Given the description of an element on the screen output the (x, y) to click on. 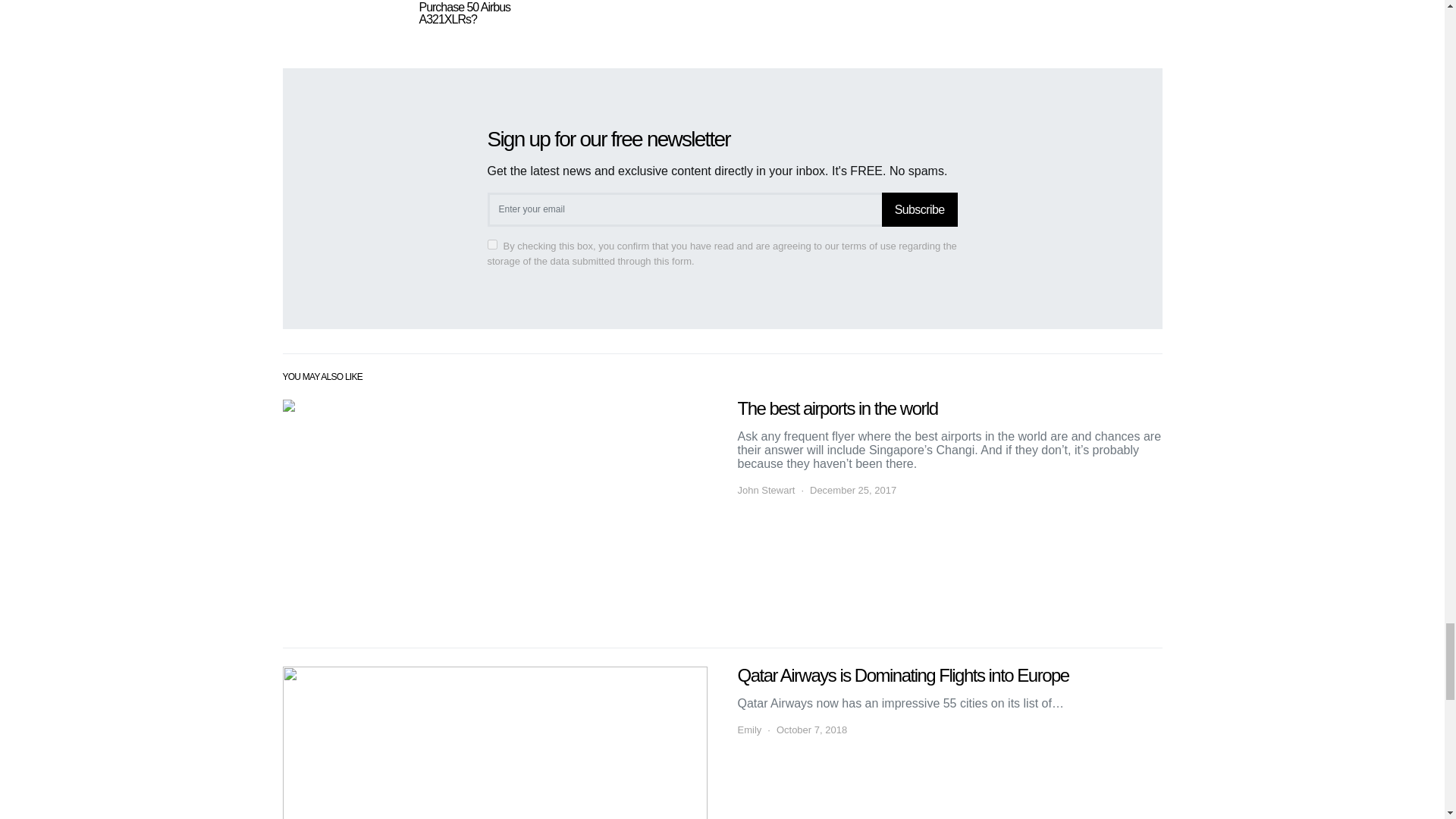
on (491, 244)
Subscribe (920, 209)
Will American Airlines Purchase 50 Airbus A321XLRs? (468, 12)
View all posts by John Stewart (765, 490)
View all posts by Emily (748, 729)
